Given the description of an element on the screen output the (x, y) to click on. 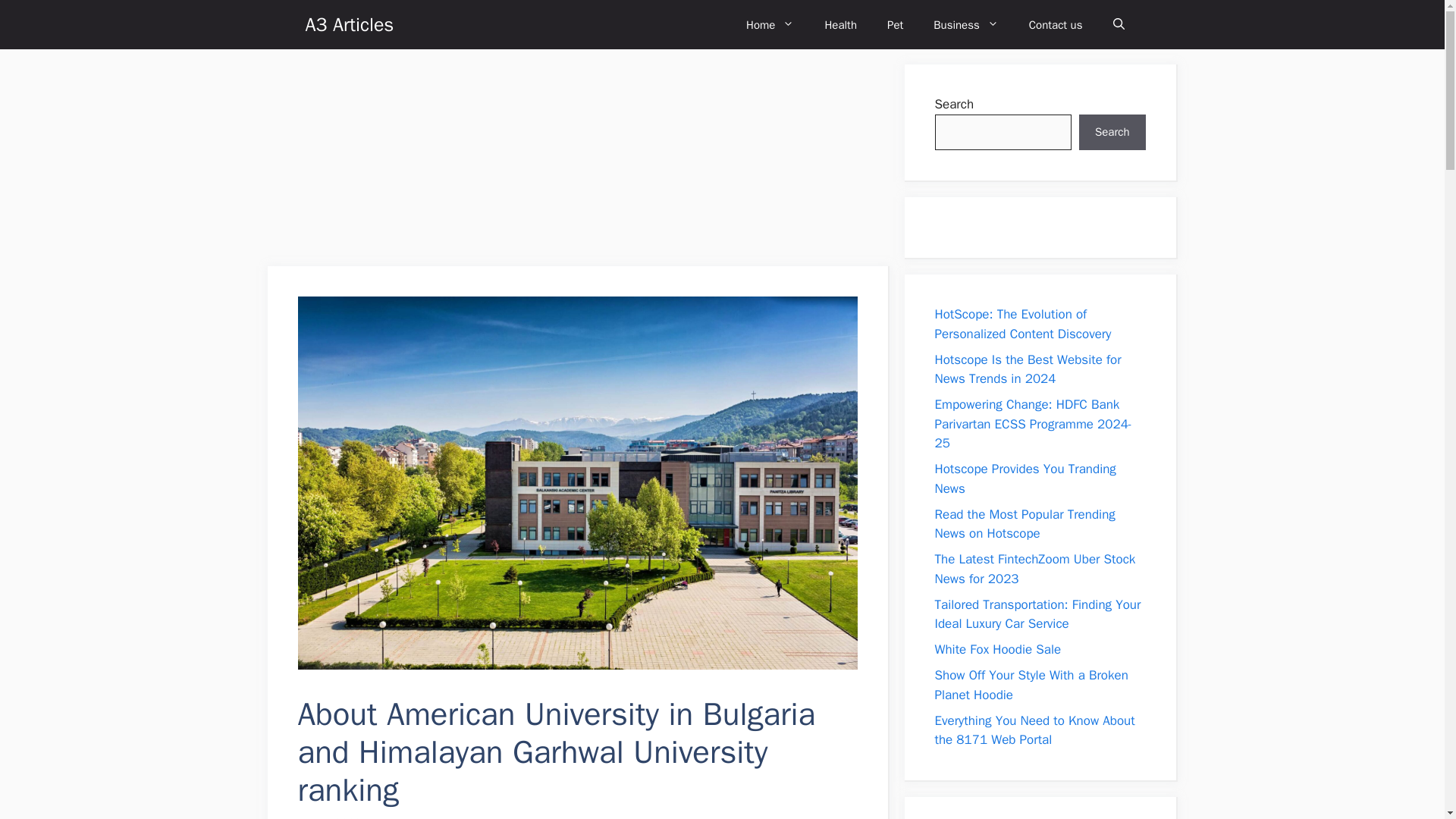
Advertisement (380, 158)
Business (965, 23)
Contact us (1055, 23)
Boostupbusinesses (425, 817)
Hotscope Provides You Tranding News (1024, 478)
Pet (895, 23)
Hotscope Is the Best Website for News Trends in 2024 (1027, 369)
View all posts by Boostupbusinesses (425, 817)
